Given the description of an element on the screen output the (x, y) to click on. 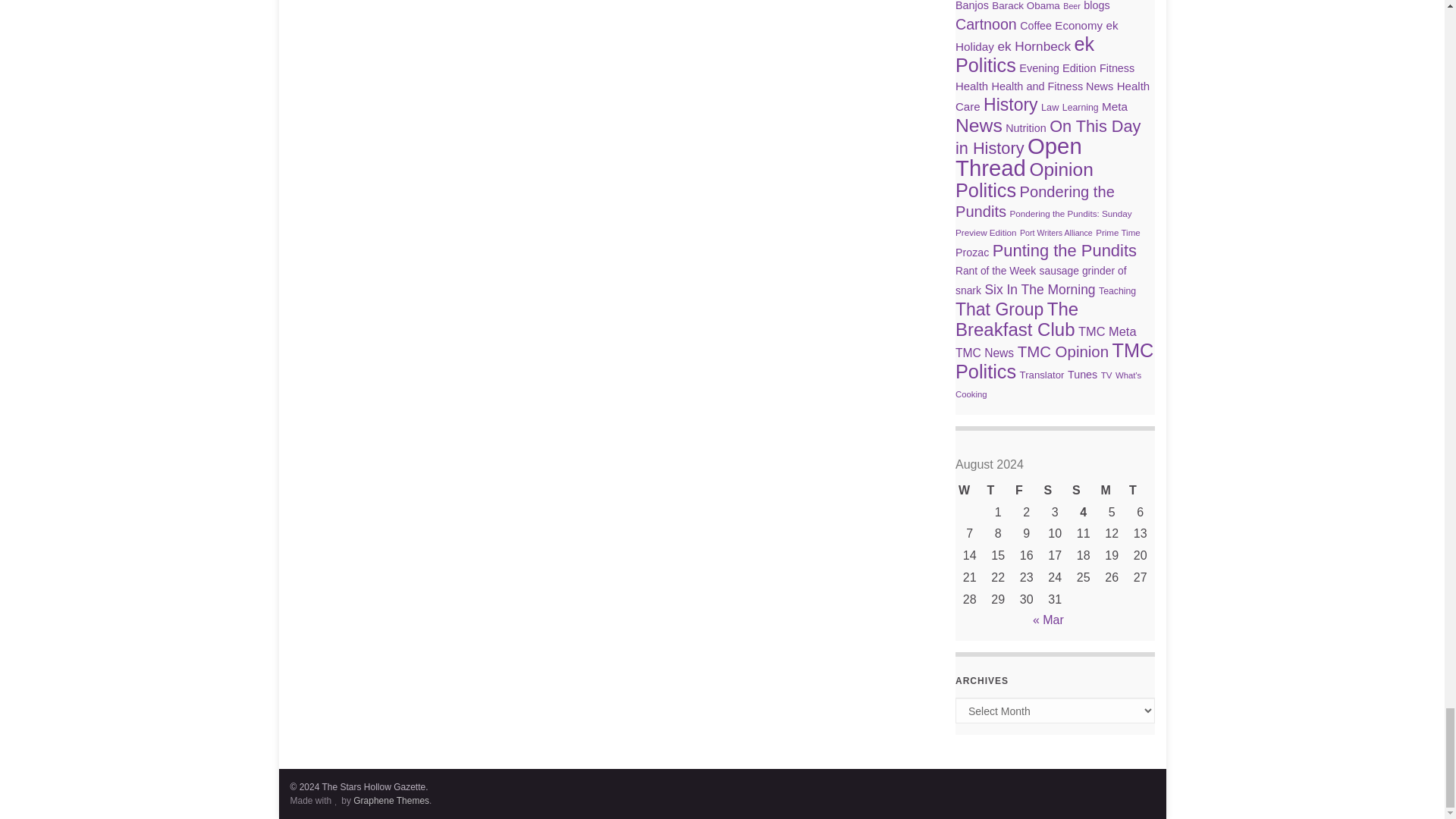
Tuesday (1139, 490)
Friday (1026, 490)
Thursday (998, 490)
Wednesday (969, 490)
Monday (1111, 490)
Sunday (1082, 490)
Saturday (1054, 490)
